Given the description of an element on the screen output the (x, y) to click on. 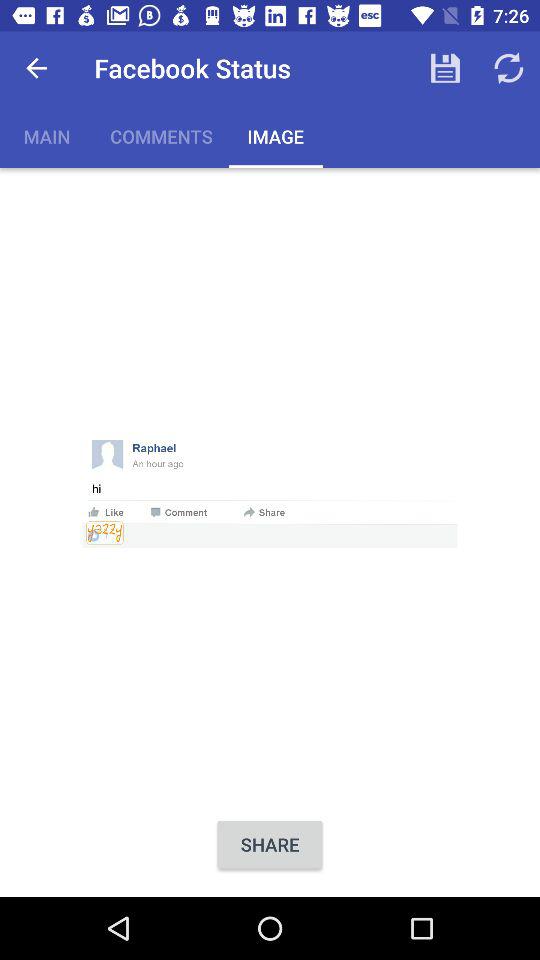
flip until share item (269, 844)
